Given the description of an element on the screen output the (x, y) to click on. 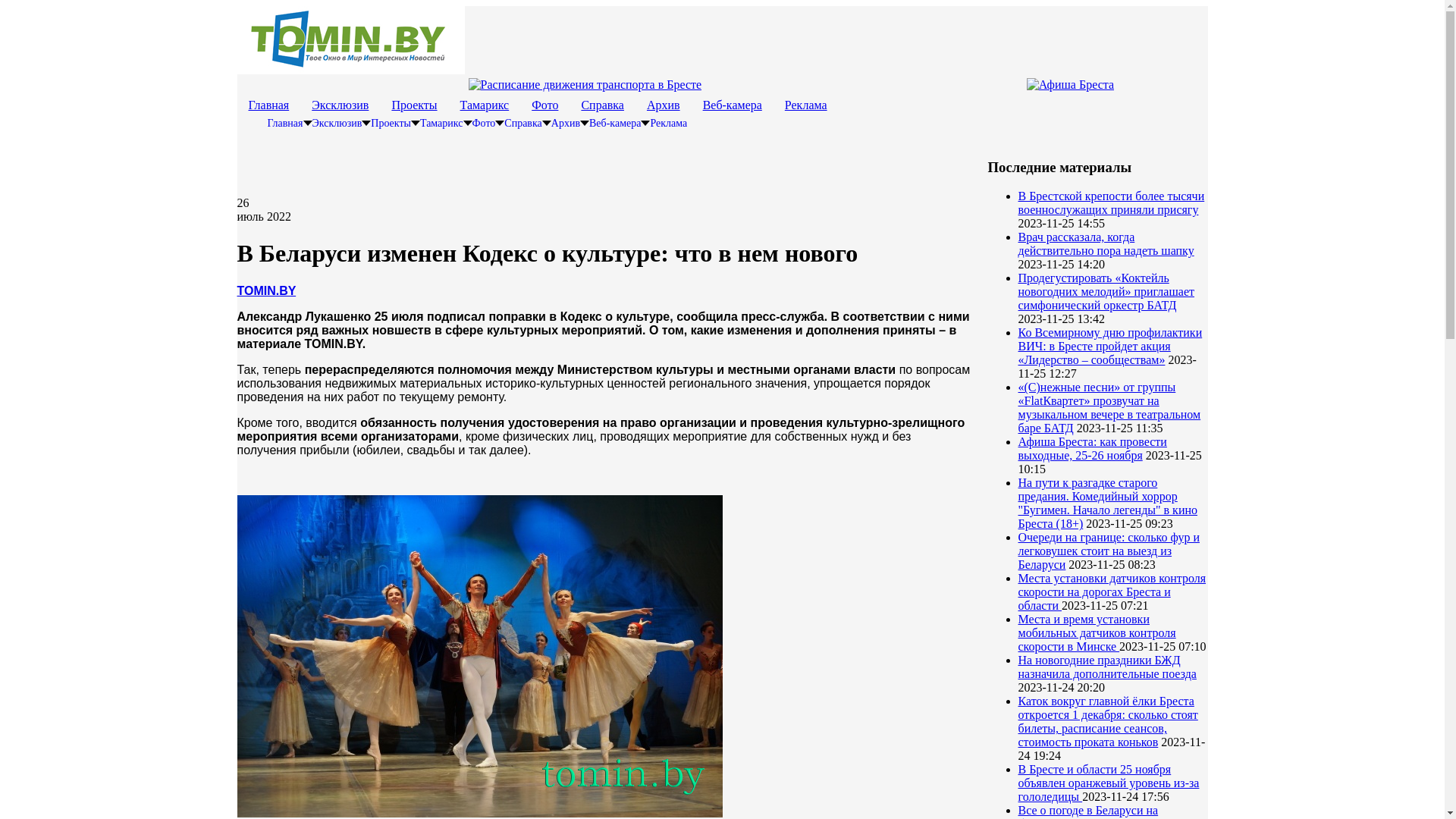
TOMIN.BY Element type: text (265, 290)
